Given the description of an element on the screen output the (x, y) to click on. 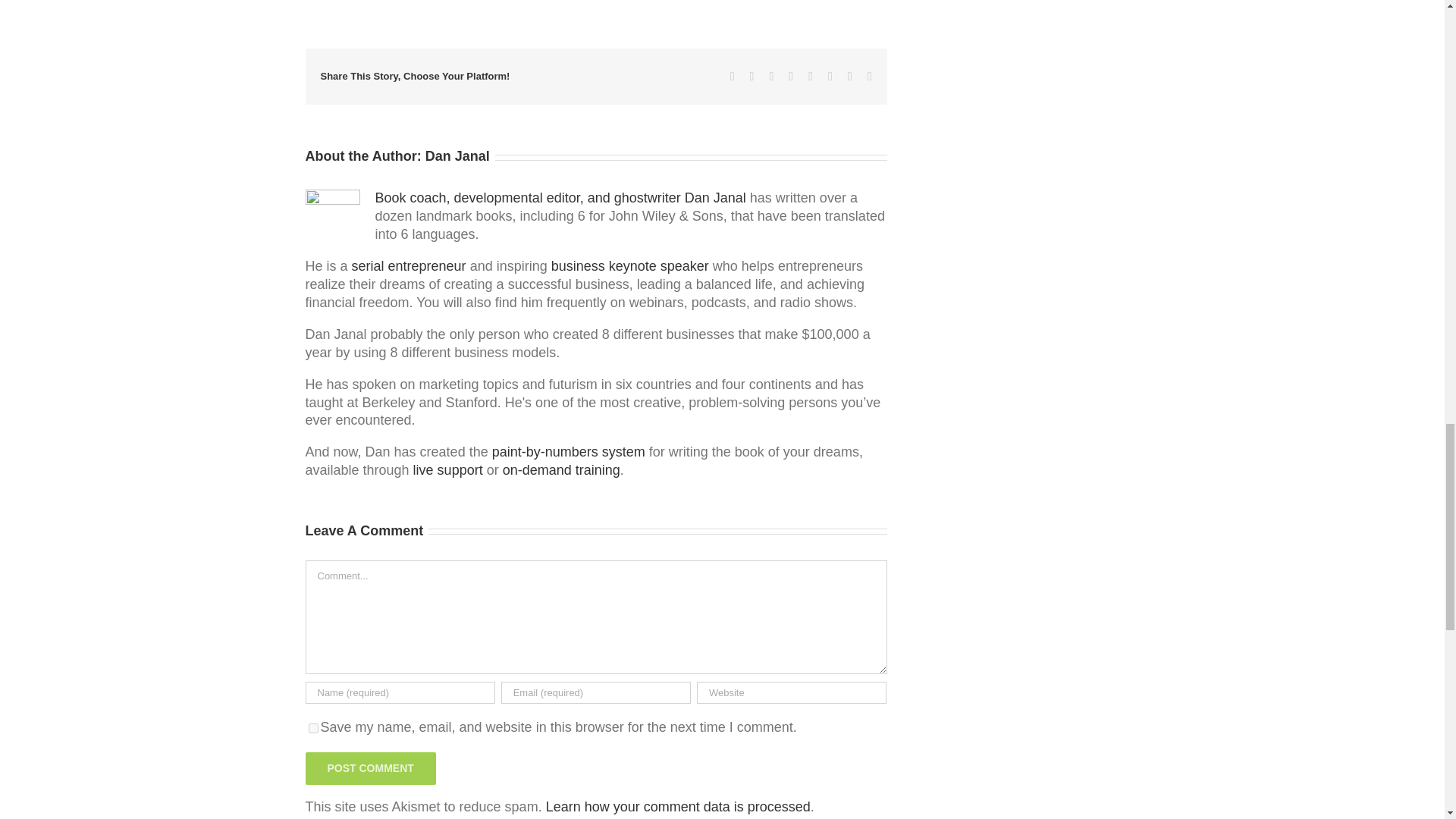
yes (312, 728)
Post Comment (369, 768)
